Given the description of an element on the screen output the (x, y) to click on. 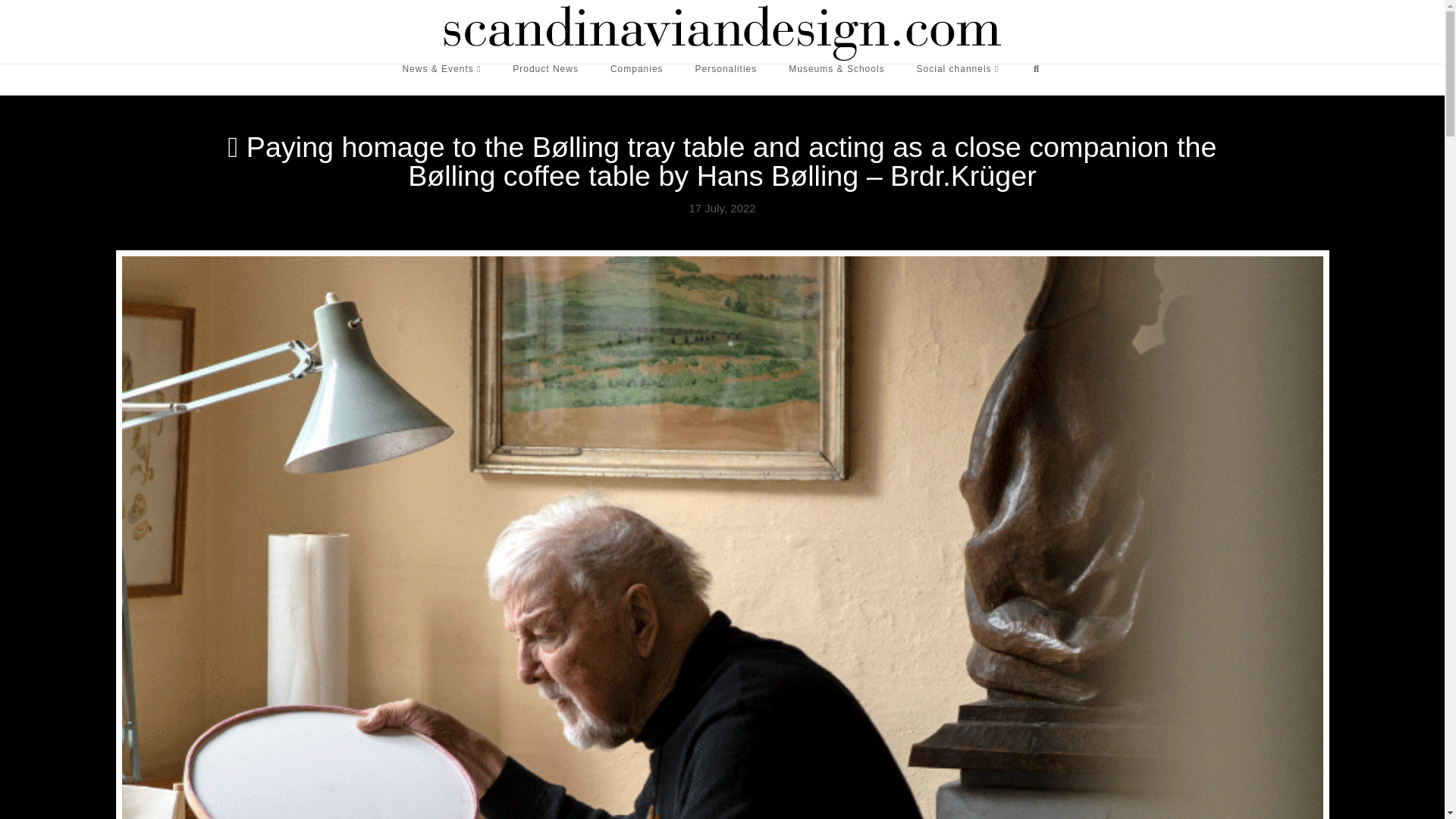
Companies (636, 79)
Product News (545, 79)
Social channels (957, 79)
Personalities (726, 79)
